Given the description of an element on the screen output the (x, y) to click on. 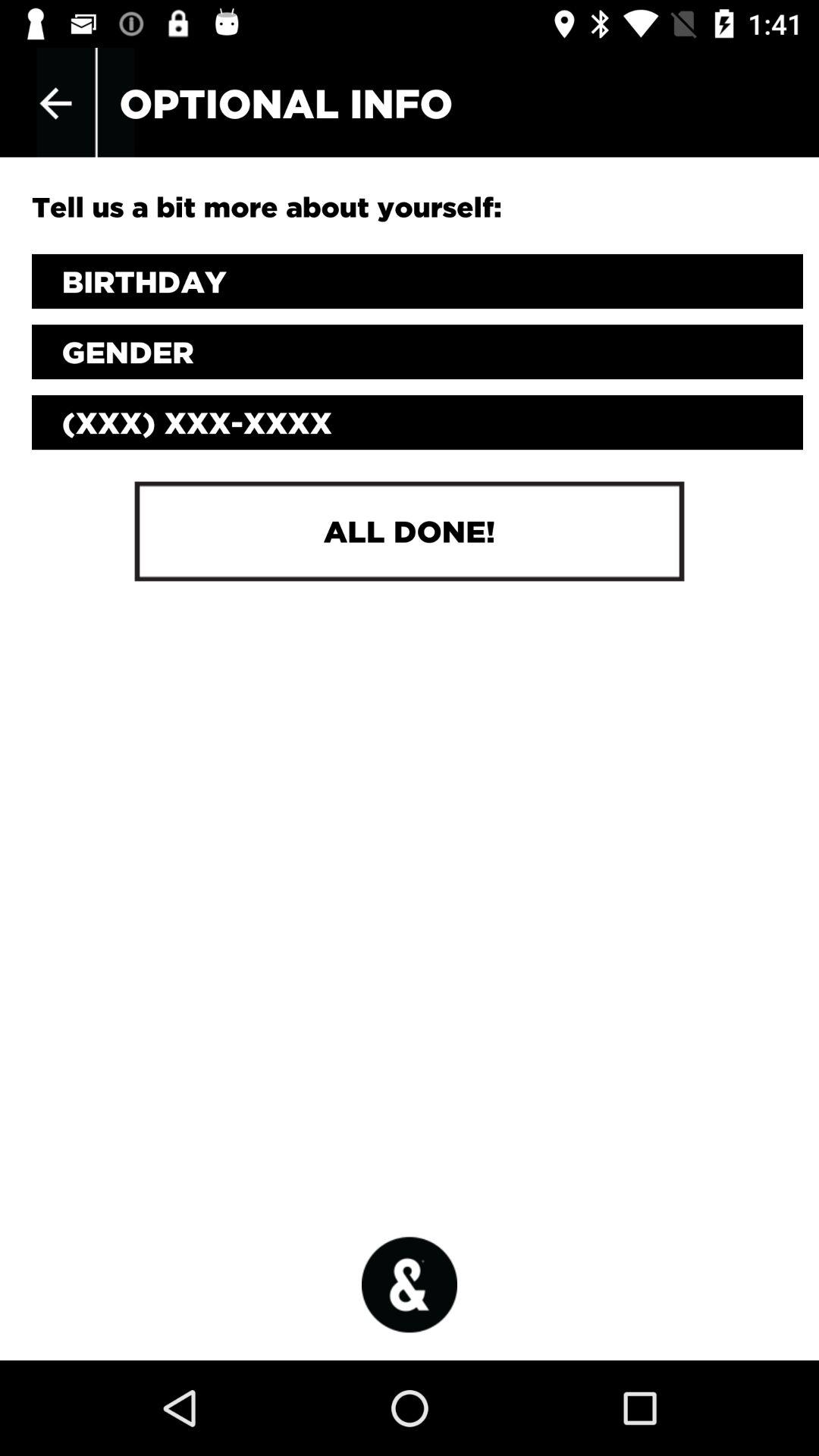
enter your birthday (417, 281)
